Given the description of an element on the screen output the (x, y) to click on. 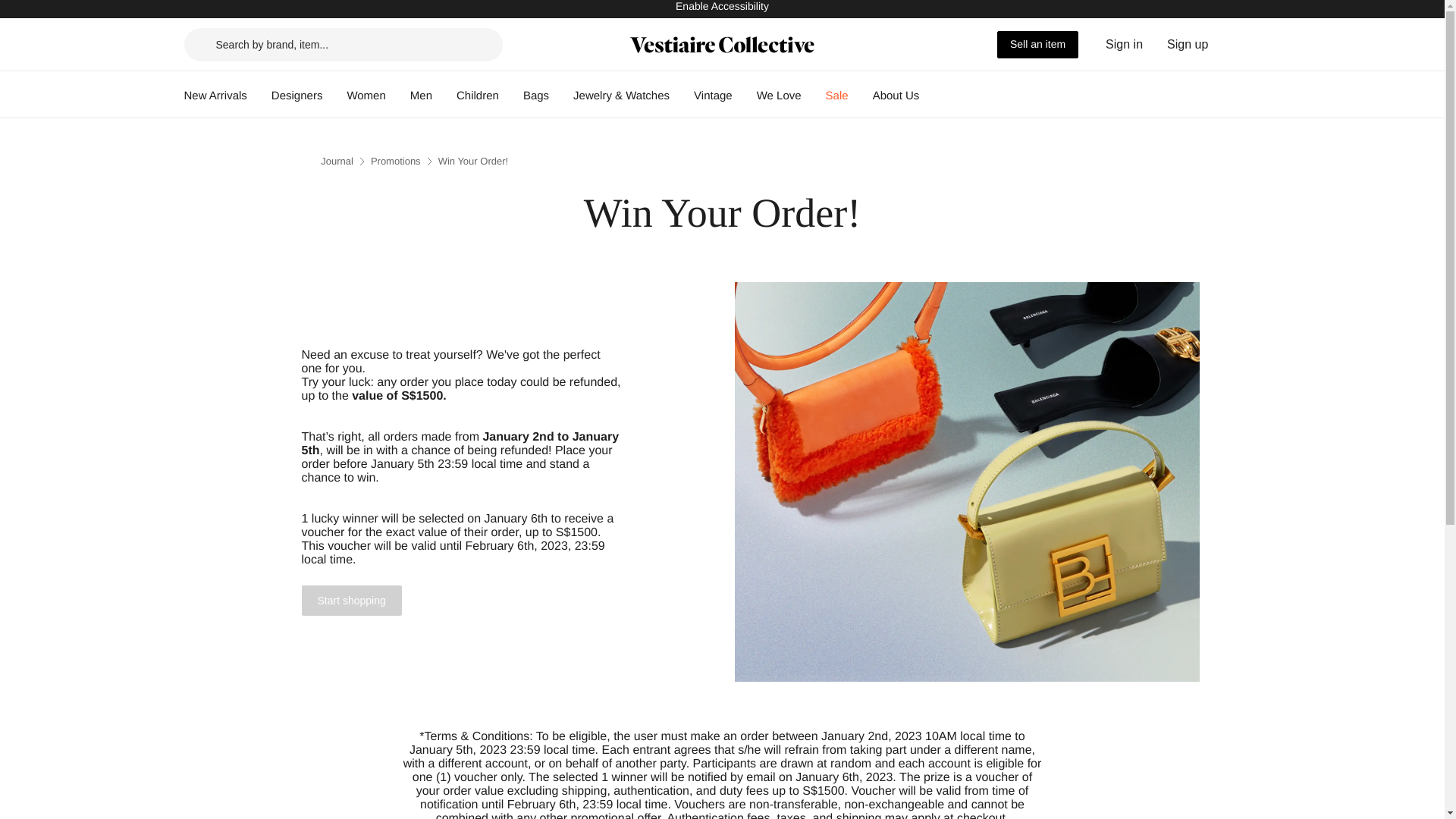
Start shopping (351, 600)
Start shopping (351, 600)
About Us (896, 95)
Designers (296, 95)
Journal (336, 161)
New Arrivals (214, 95)
We Love (779, 95)
Sign in (1123, 44)
Children (478, 95)
Promotions (395, 161)
Sell an item (1037, 43)
Sign up (1187, 44)
Search by brand, item... (342, 43)
